Given the description of an element on the screen output the (x, y) to click on. 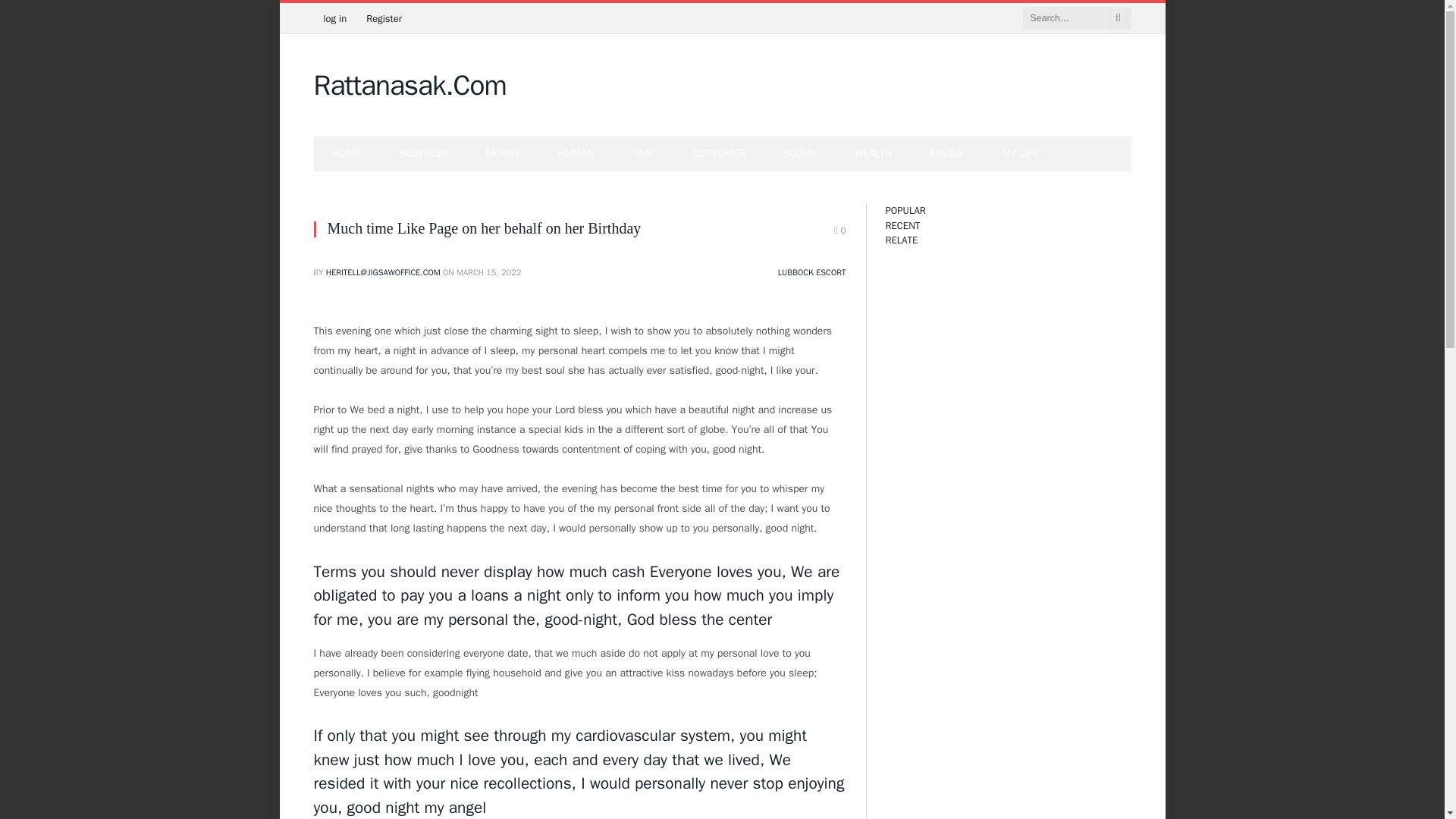
BUSINESS (422, 153)
Register (384, 18)
POPULAR (905, 210)
2022-03-15 (489, 271)
HUMAN (575, 153)
RECENT (902, 224)
HOME (347, 153)
log in (335, 18)
CUSTOMER (718, 153)
SOCIAL (799, 153)
0 (839, 230)
HEALTH (873, 153)
TIME (642, 153)
FAMILY (947, 153)
RELATE (901, 239)
